Given the description of an element on the screen output the (x, y) to click on. 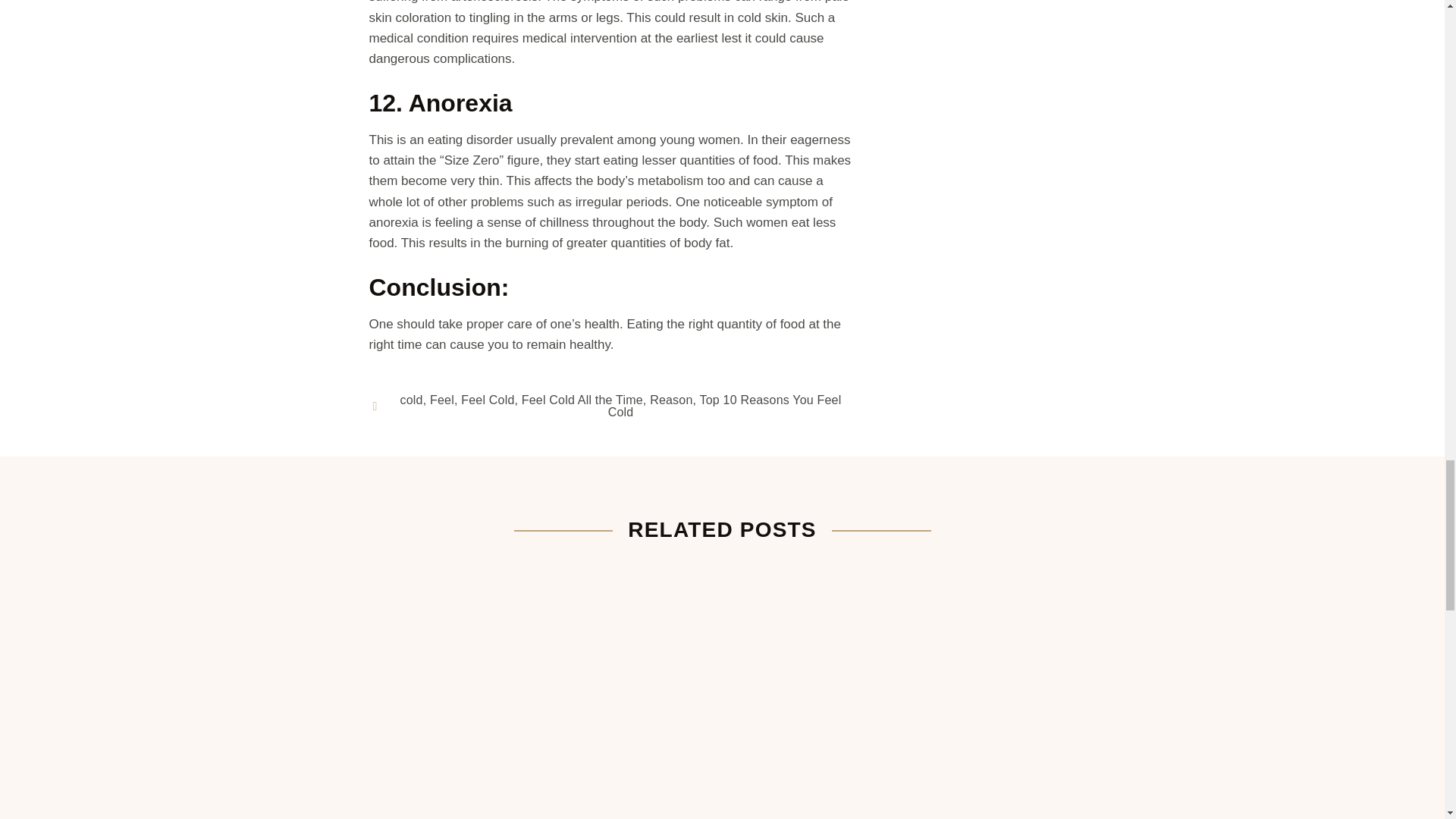
cold (411, 399)
Reason (671, 399)
Feel Cold (487, 399)
Feel Cold All the Time (582, 399)
Top 10 Reasons You Feel Cold (724, 405)
Feel (441, 399)
